Given the description of an element on the screen output the (x, y) to click on. 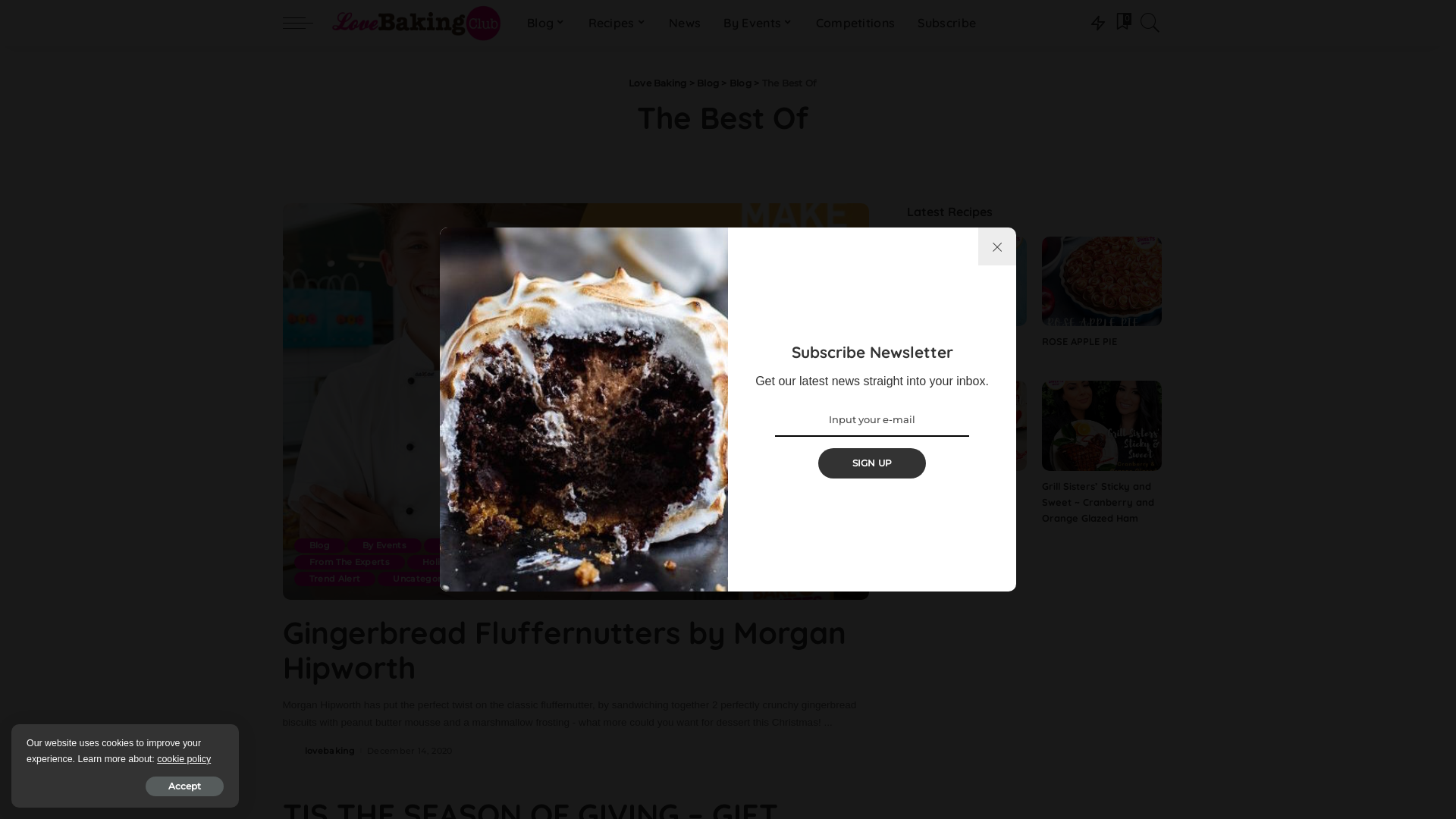
By Events Element type: text (757, 22)
From The Experts Element type: text (349, 562)
Holidays Element type: text (441, 562)
News Element type: text (684, 22)
Competitions Element type: text (855, 22)
Recipes Element type: text (616, 22)
PANDAN & COCONUT-STUFFED CROISSANTS Element type: text (959, 349)
JAPANESE FRUIT SANDWICH Element type: text (945, 494)
Gingerbread Fluffernutters by Morgan Hipworth Element type: text (563, 649)
Love Baking Element type: text (657, 82)
lovebaking Element type: text (329, 750)
SIGN UP Element type: text (872, 463)
Blog Element type: text (707, 82)
Accept Element type: text (184, 786)
Christmas Element type: text (462, 545)
ROSE APPLE PIE Element type: text (1079, 341)
News Element type: text (506, 562)
News & Announcements Element type: text (606, 562)
Close (Esc) Element type: hover (997, 246)
Subscribe Element type: text (946, 22)
The Best Of Element type: text (789, 562)
cookie policy Element type: text (183, 758)
Foodie Favourites Element type: text (762, 545)
Blog Element type: text (319, 545)
Dessert Recipes Element type: text (651, 545)
Uncategorized Element type: text (426, 578)
Cookie & Slice Element type: text (550, 545)
Recipes Element type: text (713, 562)
0 Element type: text (1122, 22)
Blog Element type: text (546, 22)
Blog Element type: text (740, 82)
Love Baking Element type: hover (415, 22)
By Events Element type: text (384, 545)
Search Element type: text (1140, 65)
Trend Alert Element type: text (335, 578)
